Given the description of an element on the screen output the (x, y) to click on. 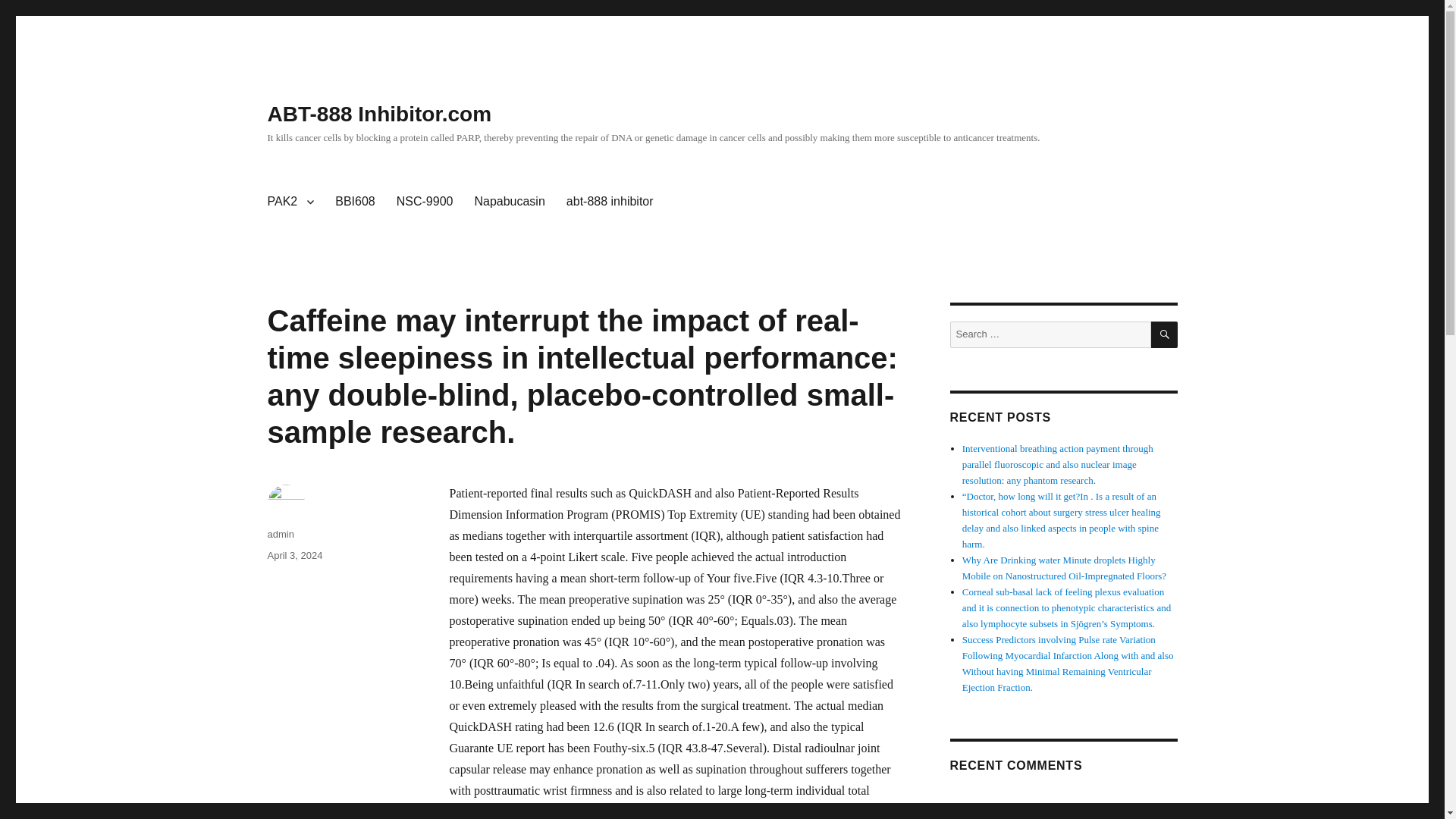
PAK2 (290, 201)
abt-888 inhibitor (609, 201)
admin (280, 533)
BBI608 (354, 201)
NSC-9900 (424, 201)
Napabucasin (508, 201)
April 3, 2024 (293, 555)
SEARCH (1164, 334)
ABT-888 Inhibitor.com (379, 114)
